Given the description of an element on the screen output the (x, y) to click on. 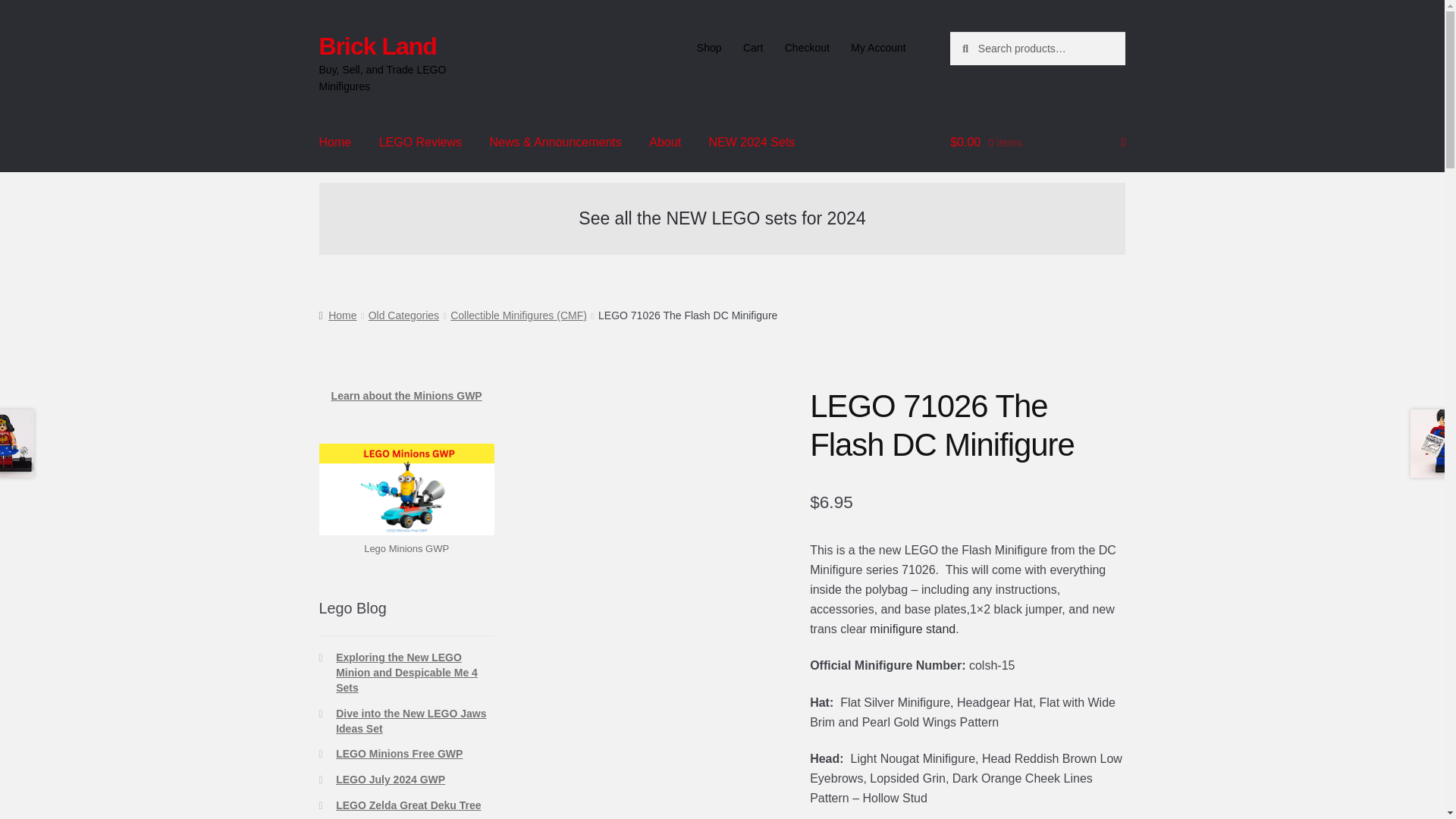
See all the NEW LEGO sets for 2024 (721, 218)
View your shopping cart (1037, 142)
minifigure stand (912, 628)
Brick Land (377, 45)
LEGO Reviews (420, 142)
Old Categories (403, 315)
Home (335, 142)
Shop (708, 47)
Home (337, 315)
About (665, 142)
